Given the description of an element on the screen output the (x, y) to click on. 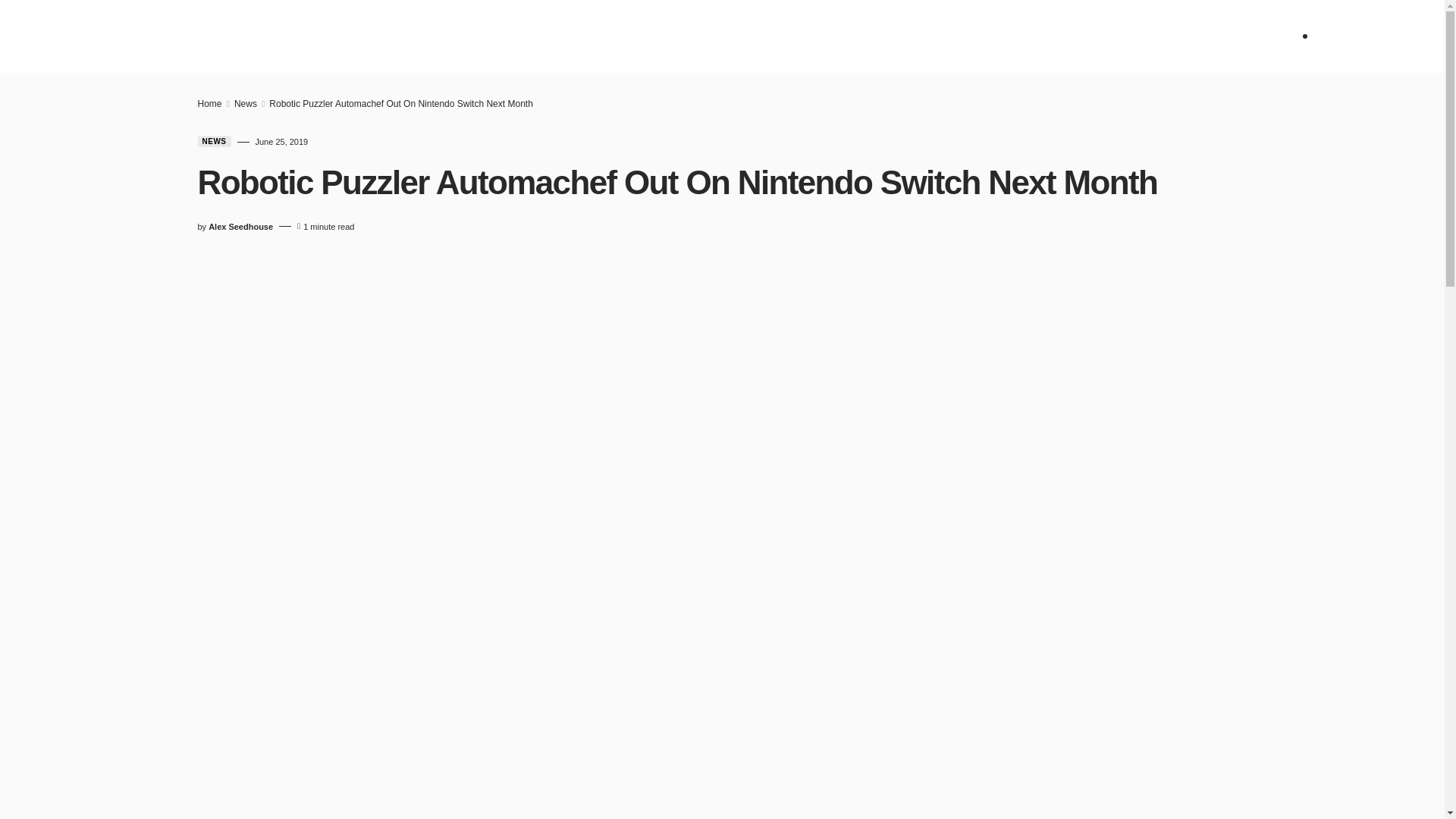
Previews (584, 36)
PREVIEWS (584, 36)
GUIDES (733, 36)
INTERVIEWS (808, 36)
News (447, 36)
Features (663, 36)
HOME (393, 36)
FEATURES (663, 36)
NEWS (447, 36)
REVIEWS (510, 36)
